Given the description of an element on the screen output the (x, y) to click on. 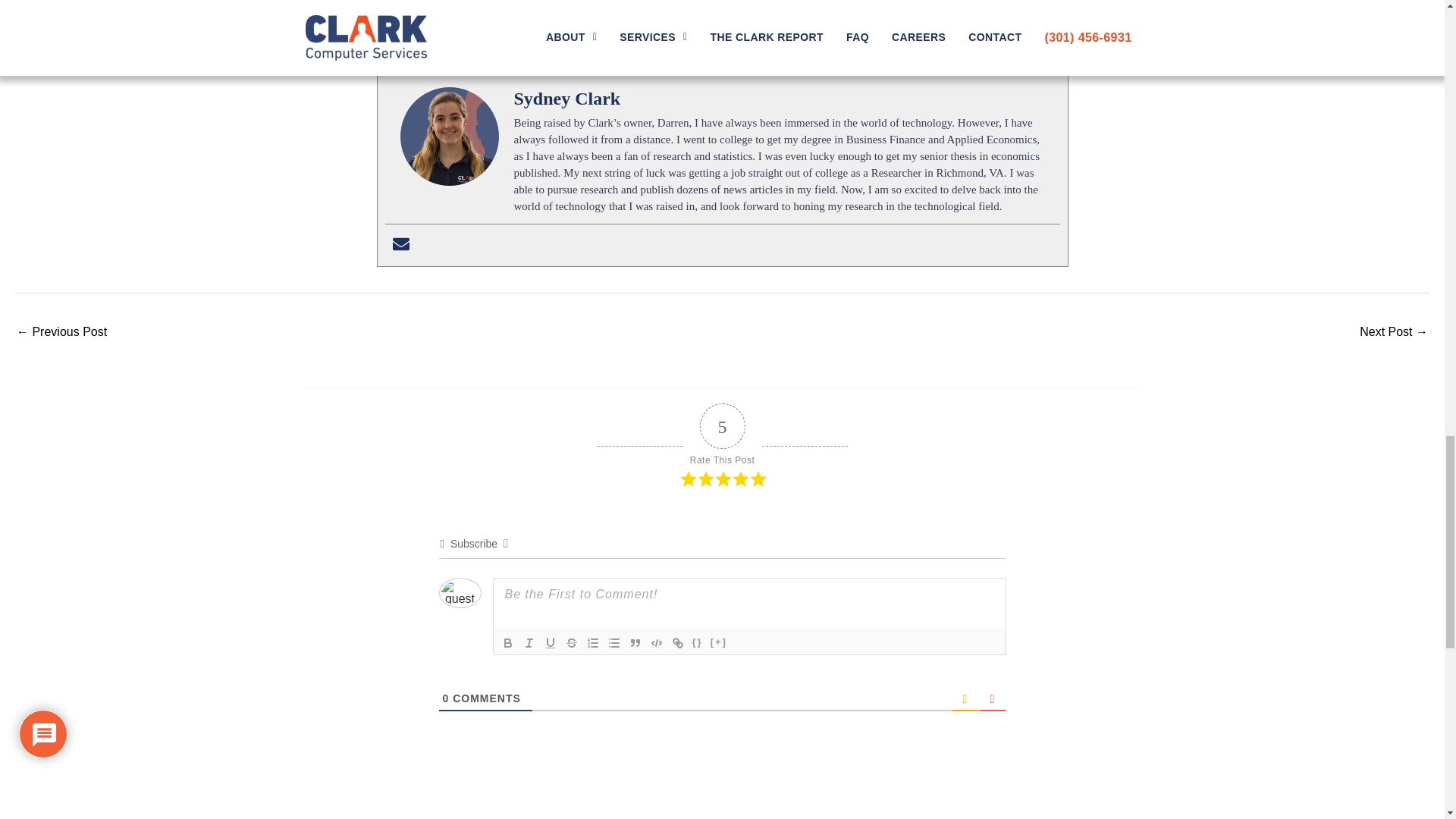
Strike (571, 642)
User email (401, 244)
Bold (507, 642)
Blockquote (635, 642)
Chuck's Cyber Wall: Why Good Password Hygiene is Important (1393, 333)
Ordered List (593, 642)
Unordered List (614, 642)
Italic (529, 642)
Underline (550, 642)
DC the Computer Guy: What is the Cloud? (61, 333)
